Given the description of an element on the screen output the (x, y) to click on. 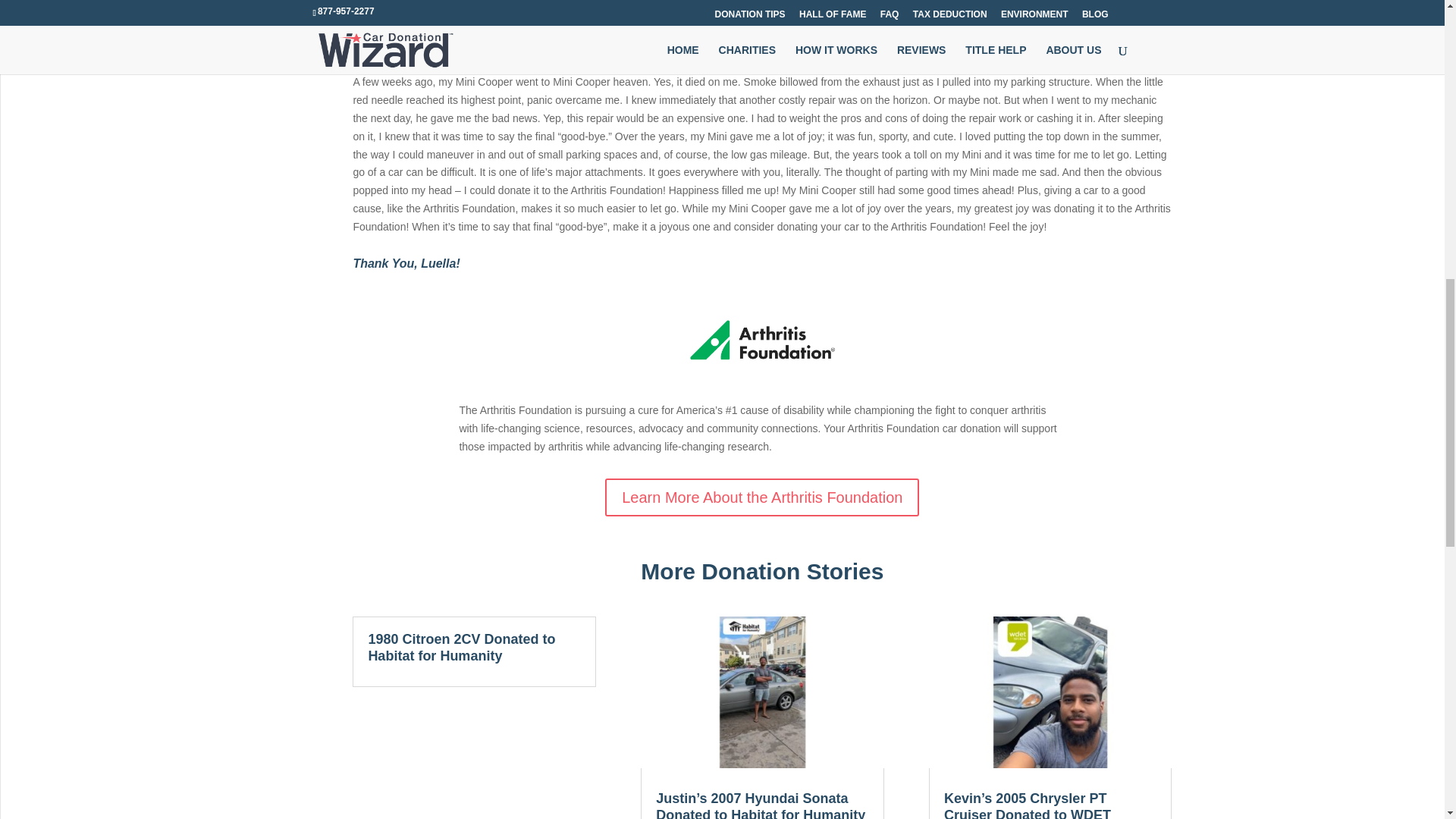
Learn More About the Arthritis Foundation (761, 497)
1980 Citroen 2CV Donated to Habitat for Humanity (461, 647)
Arthritis Foundation Logo (761, 340)
